Given the description of an element on the screen output the (x, y) to click on. 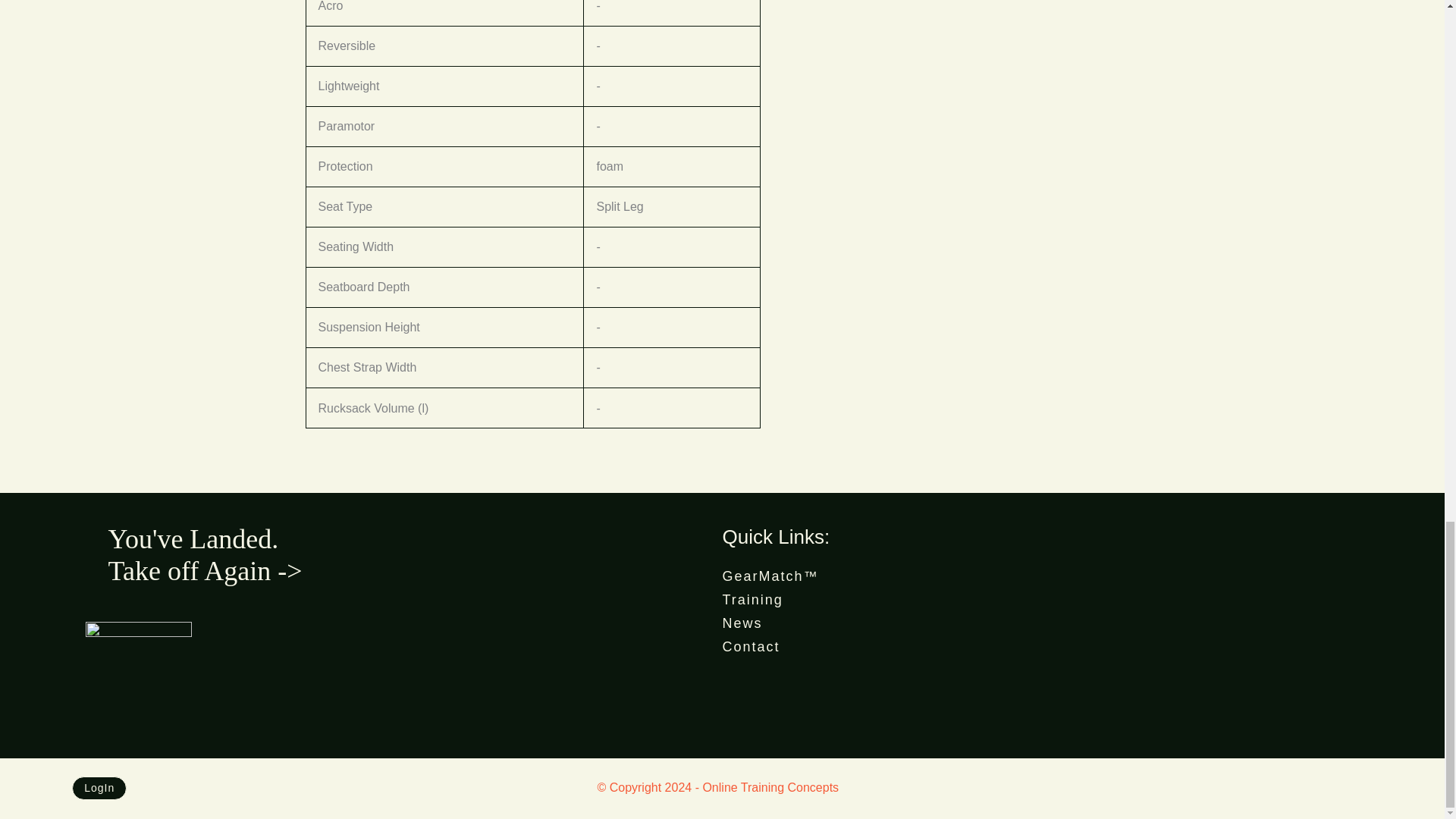
News (1040, 623)
Training (1040, 599)
LogIn (98, 788)
Contact (1040, 647)
